Given the description of an element on the screen output the (x, y) to click on. 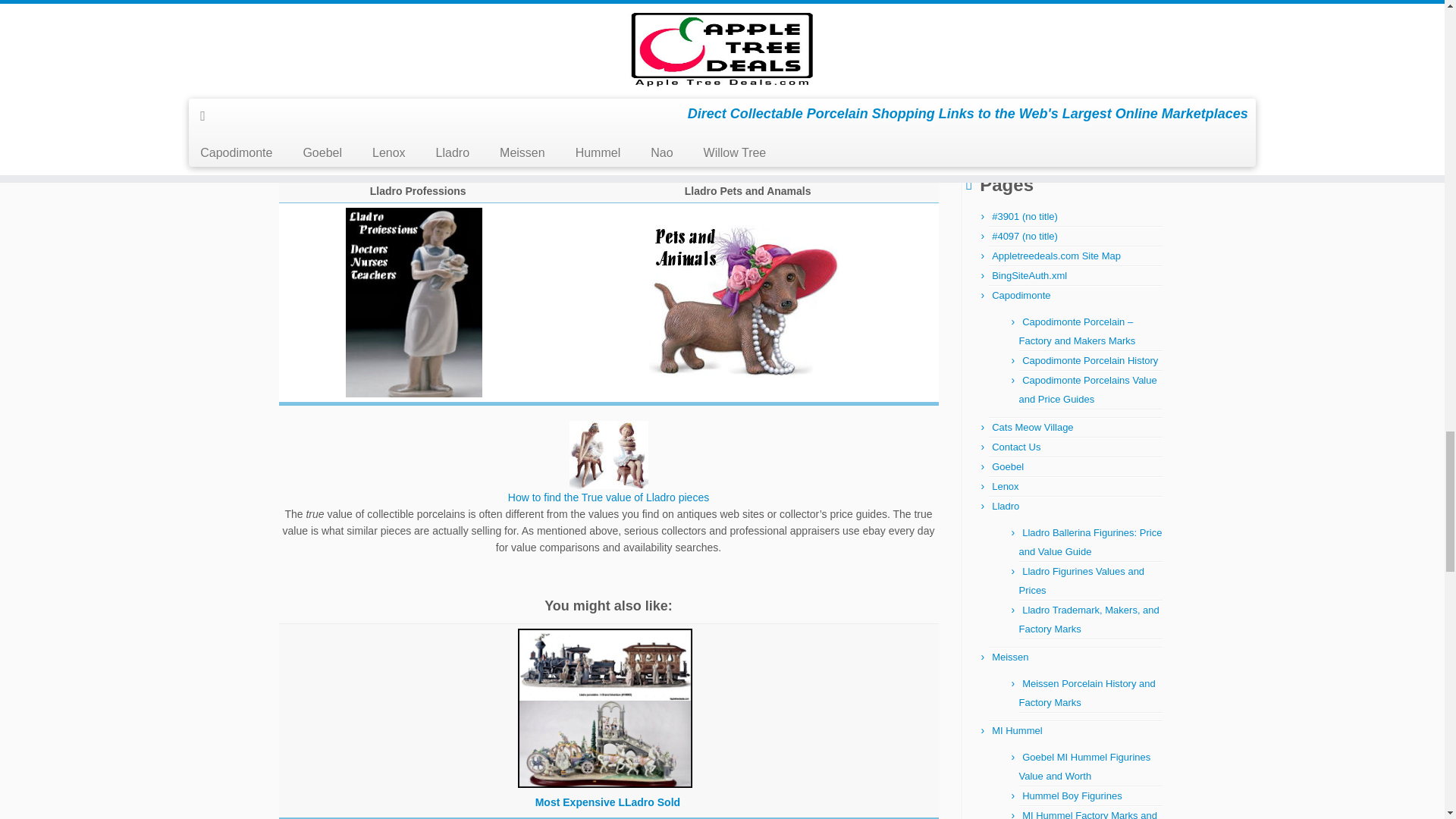
Lladro Professions Figurines (413, 301)
  Most Expensive LLadro Sold (603, 754)
Lladro Mother and Child Figurines (448, 60)
How to find the True value of Lladro pieces (608, 497)
Lladro Bride and Groom Wedding Figurines (778, 60)
